Given the description of an element on the screen output the (x, y) to click on. 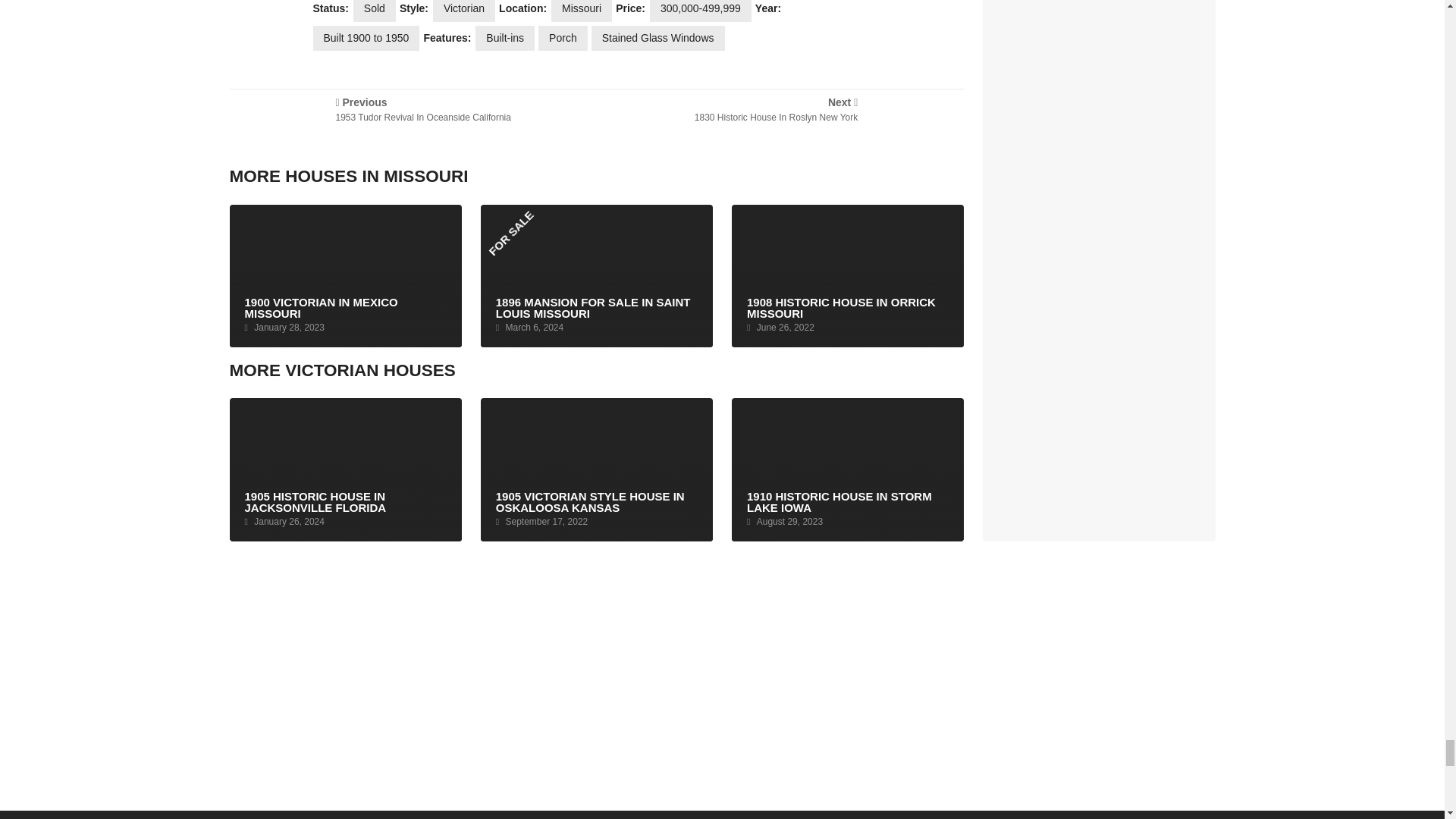
Built 1900 to 1950 (366, 38)
Built-ins (783, 121)
Stained Glass Windows (505, 38)
Porch (658, 38)
Missouri (408, 121)
Sold (563, 38)
300,000-499,999 (581, 11)
Victorian (374, 11)
